Given the description of an element on the screen output the (x, y) to click on. 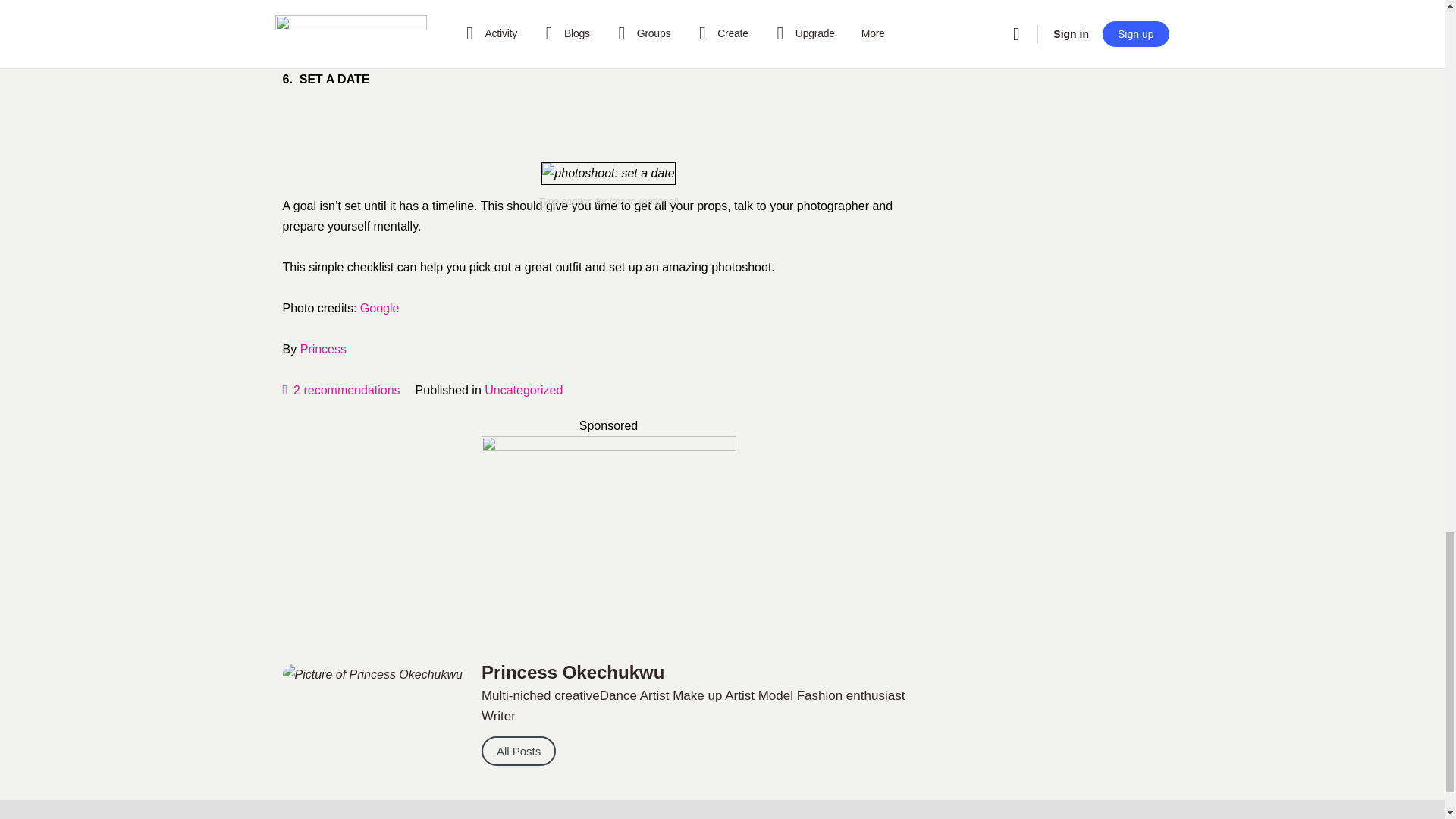
Recommend this article (340, 390)
